Given the description of an element on the screen output the (x, y) to click on. 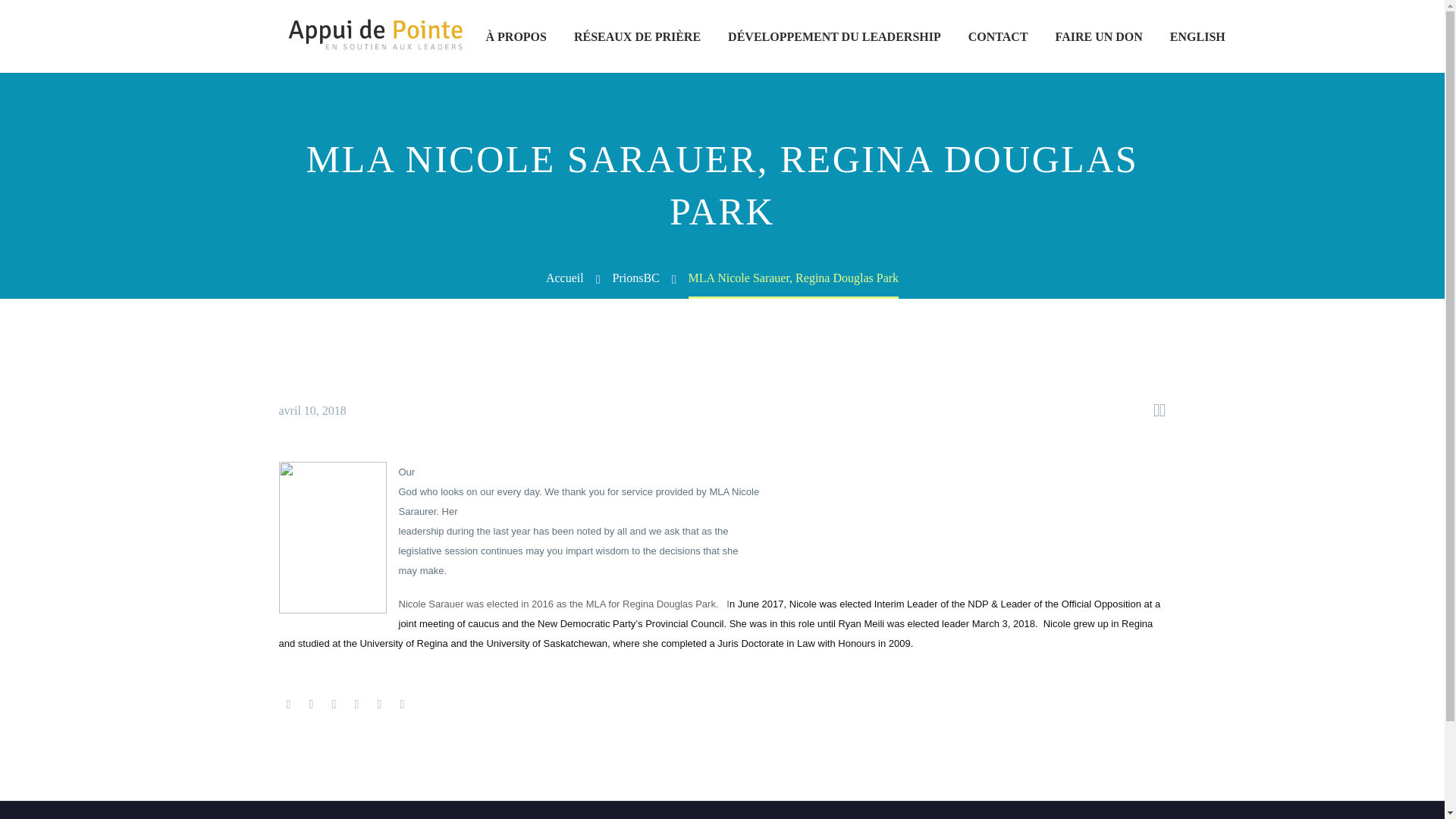
PrionsBC (635, 277)
ENGLISH (1194, 36)
Twitter (310, 704)
Accueil (564, 277)
English (1194, 36)
Pinterest (333, 704)
Tumblr (356, 704)
LinkedIn (378, 704)
FAIRE UN DON (1098, 36)
Reddit (401, 704)
Facebook (288, 704)
CONTACT (997, 36)
